Given the description of an element on the screen output the (x, y) to click on. 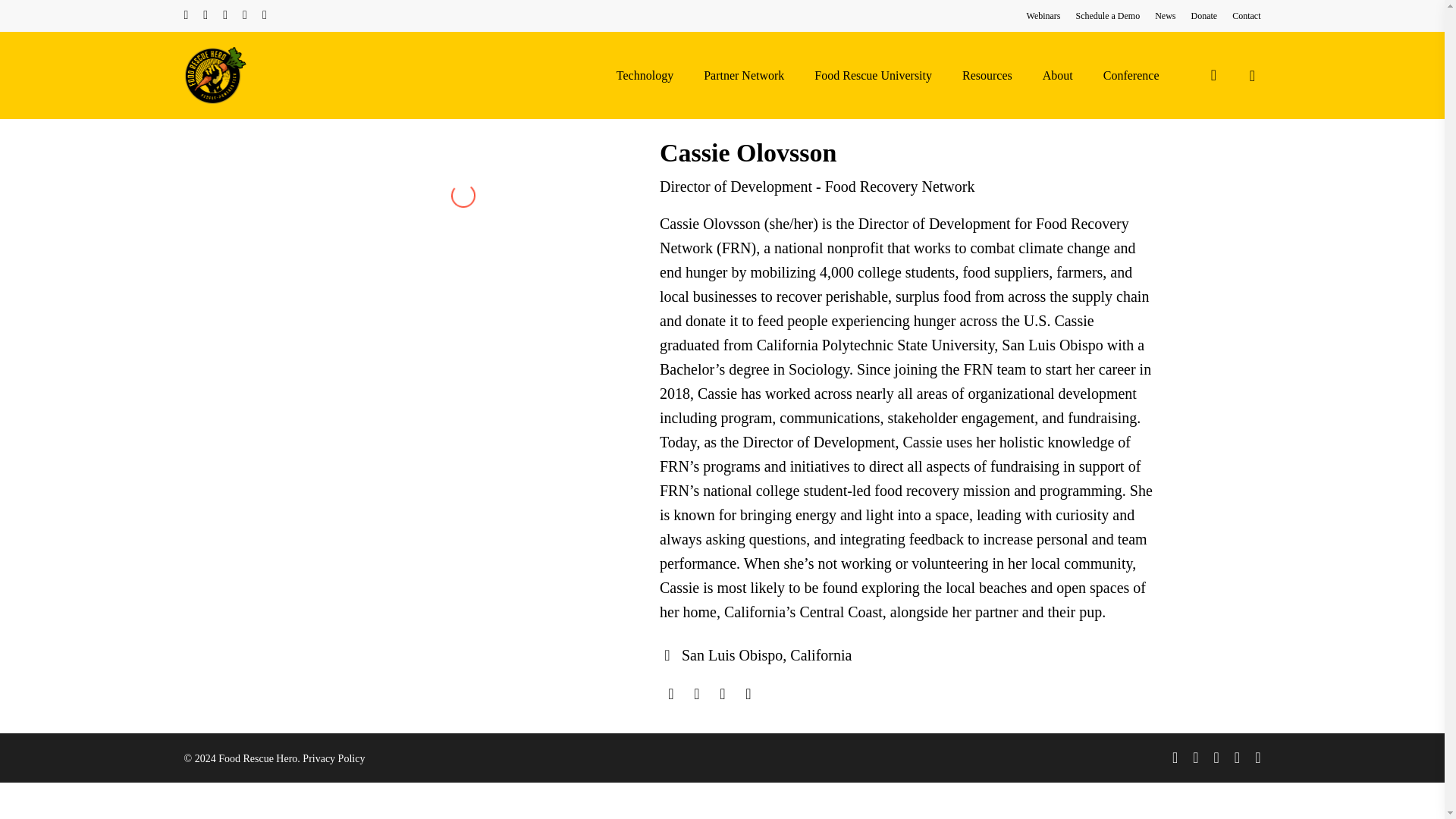
About (1057, 75)
Webinars (1043, 15)
Donate (1204, 15)
Food Rescue University (873, 75)
News (1164, 15)
search (1213, 75)
Privacy Policy (333, 758)
Schedule a Demo (1107, 15)
Technology (644, 75)
Conference (1130, 75)
